Given the description of an element on the screen output the (x, y) to click on. 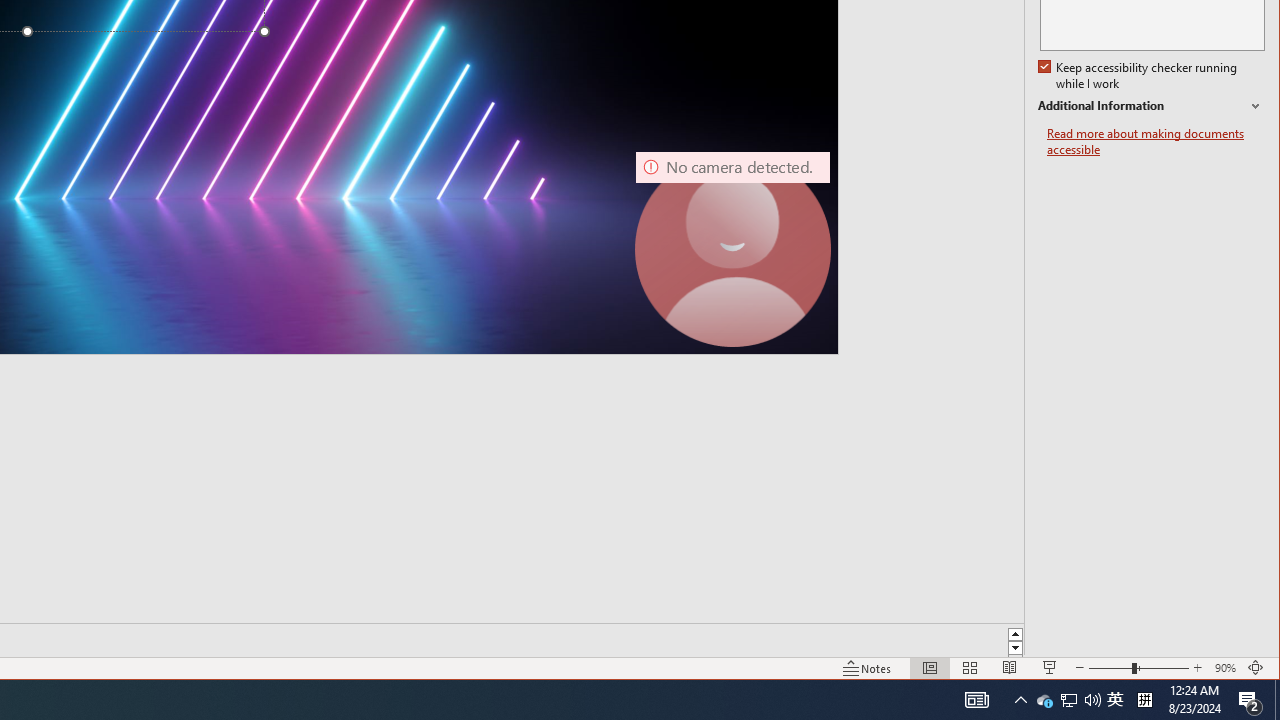
Additional Information (1151, 106)
Camera 7, No camera detected. (732, 249)
Keep accessibility checker running while I work (1139, 76)
